Given the description of an element on the screen output the (x, y) to click on. 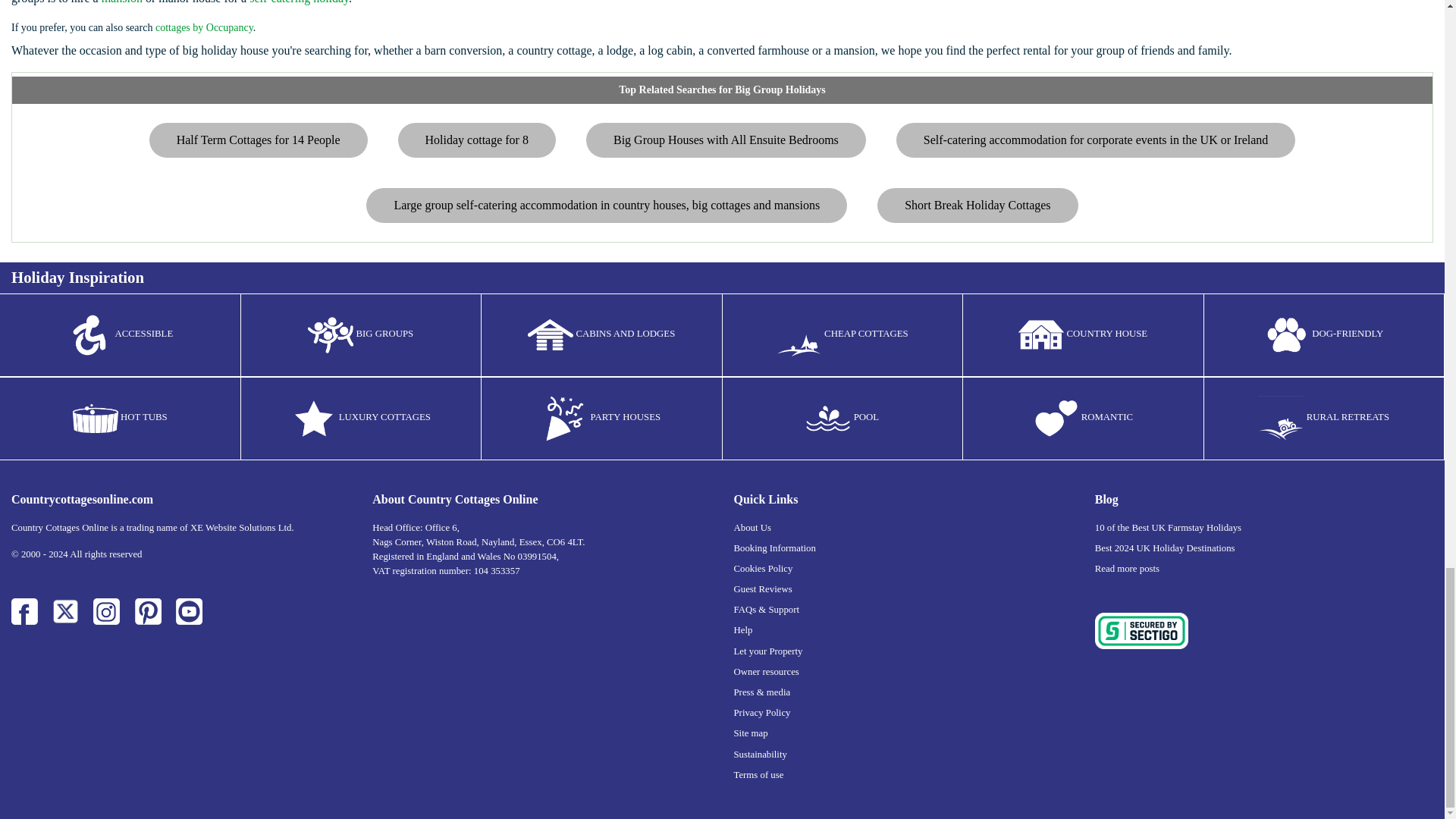
Hot Tub Holidays (94, 418)
Cheap Cottages (799, 334)
Party Houses (564, 418)
Rural Retreats (1280, 418)
All self-catering (313, 418)
Accessible Cottages (89, 334)
Large Country Houses (1040, 334)
Cottages with Pools (827, 418)
Log Cabin Holidays (550, 334)
Dogs Welcome Cottages (1285, 334)
Romantic Holiday Cottages (1055, 418)
Big Groups (330, 334)
